Given the description of an element on the screen output the (x, y) to click on. 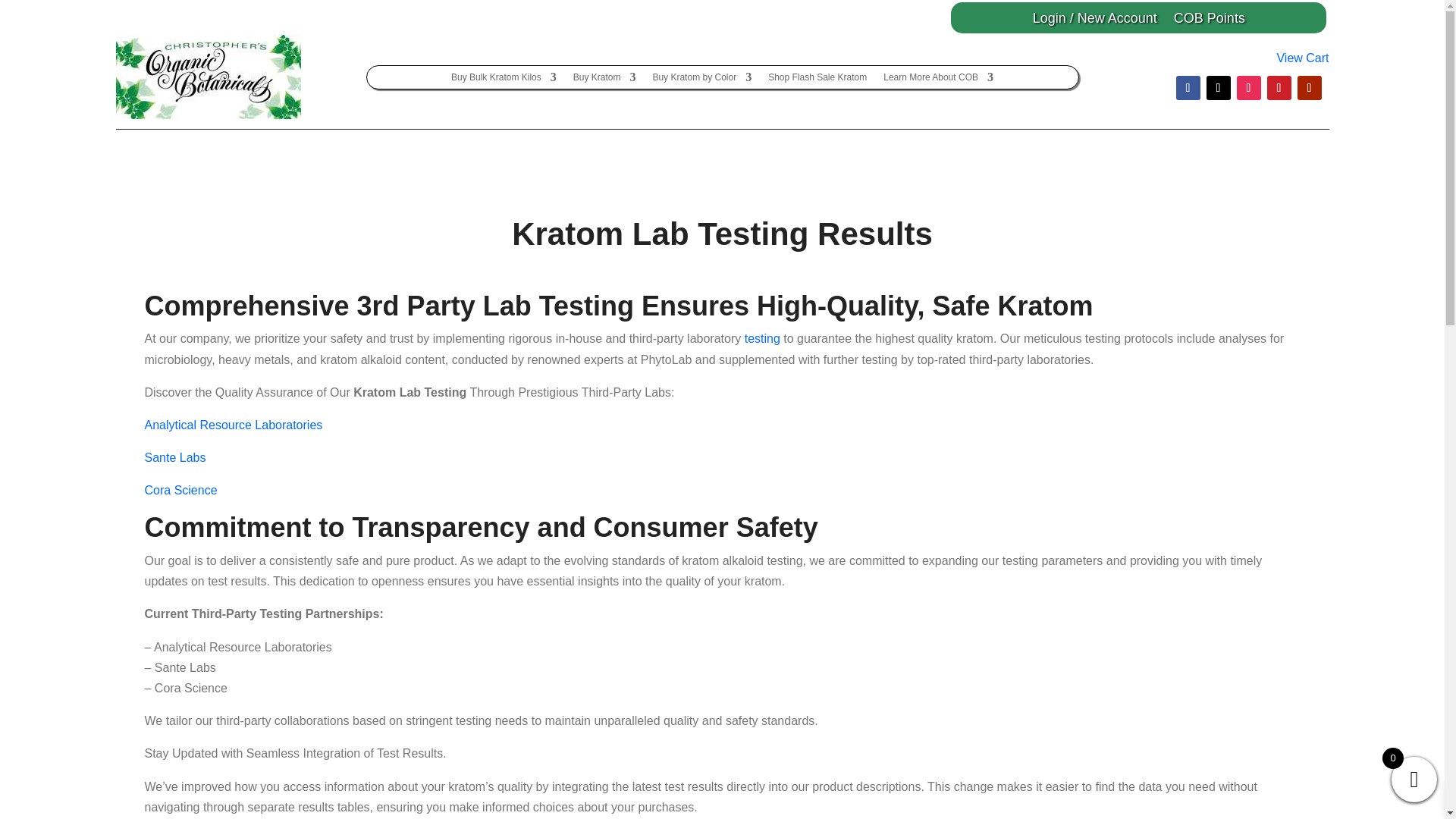
Follow on Facebook (1186, 87)
Shop Flash Sale Kratom (817, 80)
christophers-organic-botanicals-logo-buy-kratom (207, 76)
testing (762, 338)
COB Points (1208, 20)
Follow on Youtube (1308, 87)
Buy Bulk Kratom Kilos (503, 80)
Analytical Resource Laboratories (232, 424)
Follow on Instagram (1248, 87)
Sante Labs (174, 457)
